Given the description of an element on the screen output the (x, y) to click on. 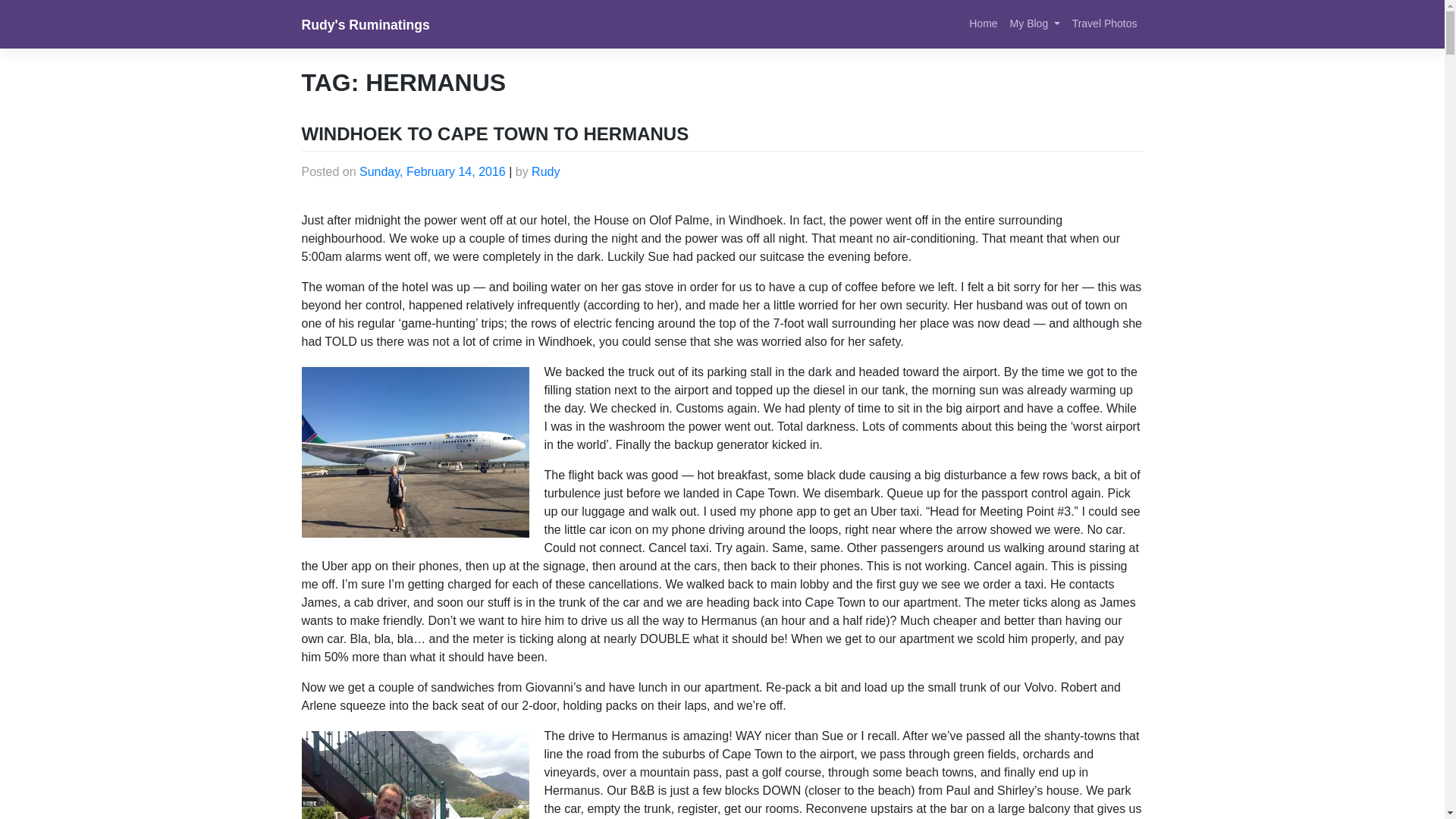
Travel Photos (1103, 23)
Rudy (545, 171)
Rudy's Ruminatings (365, 24)
My Blog (1034, 23)
My Blog (1034, 23)
Home (982, 23)
WINDHOEK TO CAPE TOWN TO HERMANUS (494, 133)
Sunday, February 14, 2016 (432, 171)
Home (982, 23)
